Given the description of an element on the screen output the (x, y) to click on. 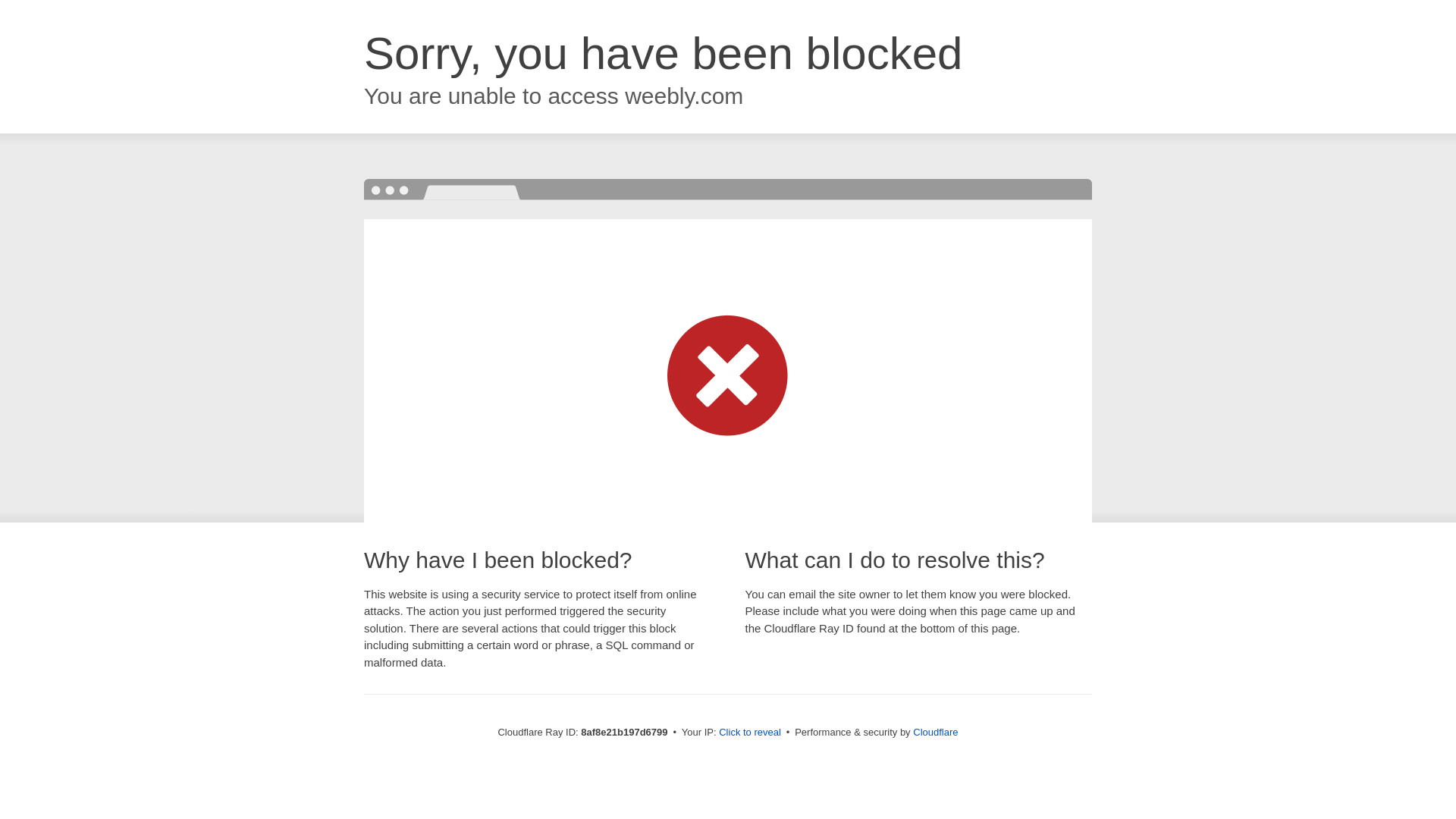
Cloudflare (935, 731)
Click to reveal (749, 732)
